Given the description of an element on the screen output the (x, y) to click on. 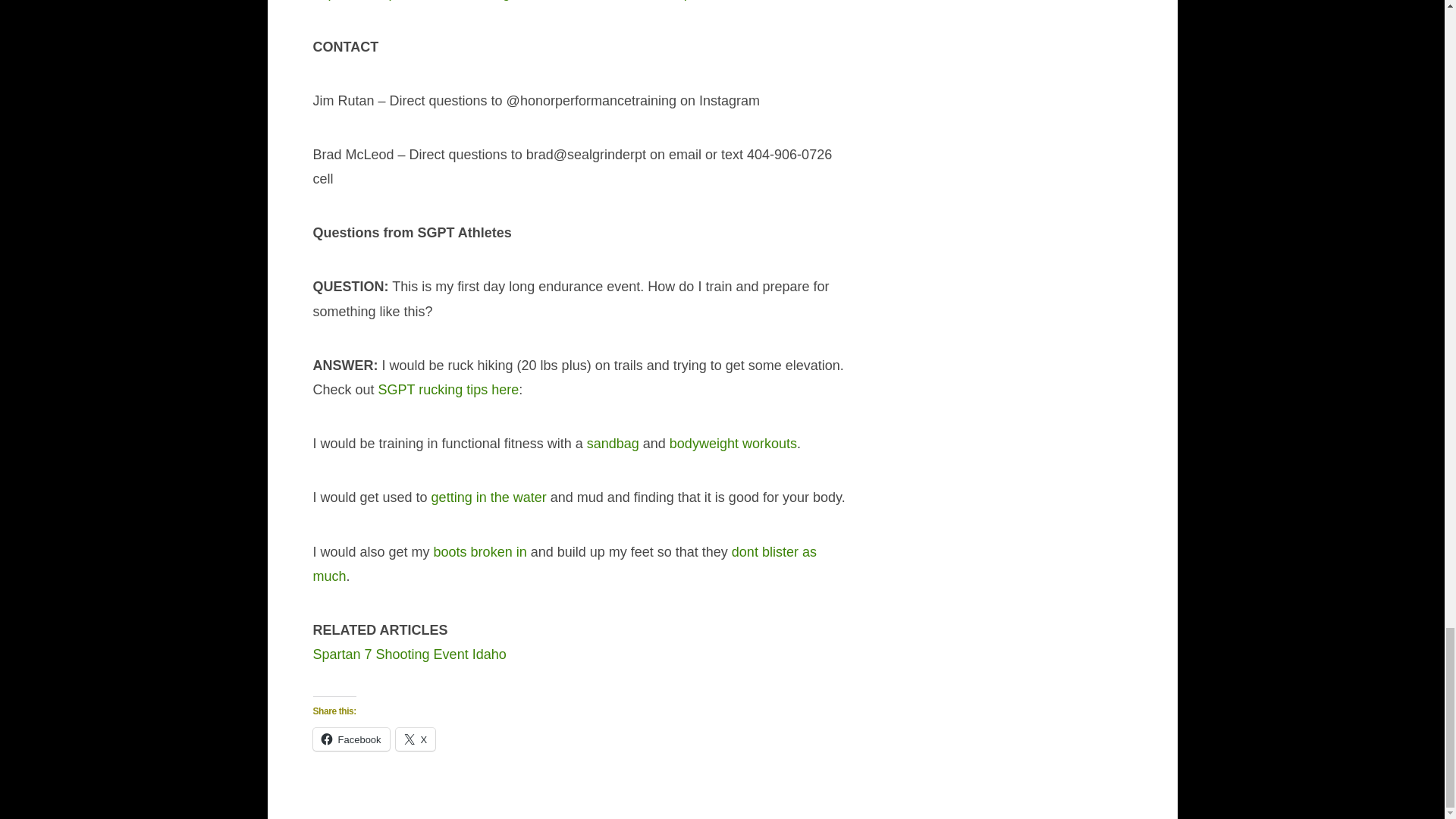
Spartan 7 Shooting Event Idaho (409, 654)
bodyweight workouts (732, 443)
boots broken in (480, 551)
X (415, 739)
sandbag (612, 443)
Click to share on Facebook (350, 739)
Click to share on X (415, 739)
SGPT rucking tips here (448, 389)
dont blister as much (564, 563)
getting in the water (488, 497)
